Given the description of an element on the screen output the (x, y) to click on. 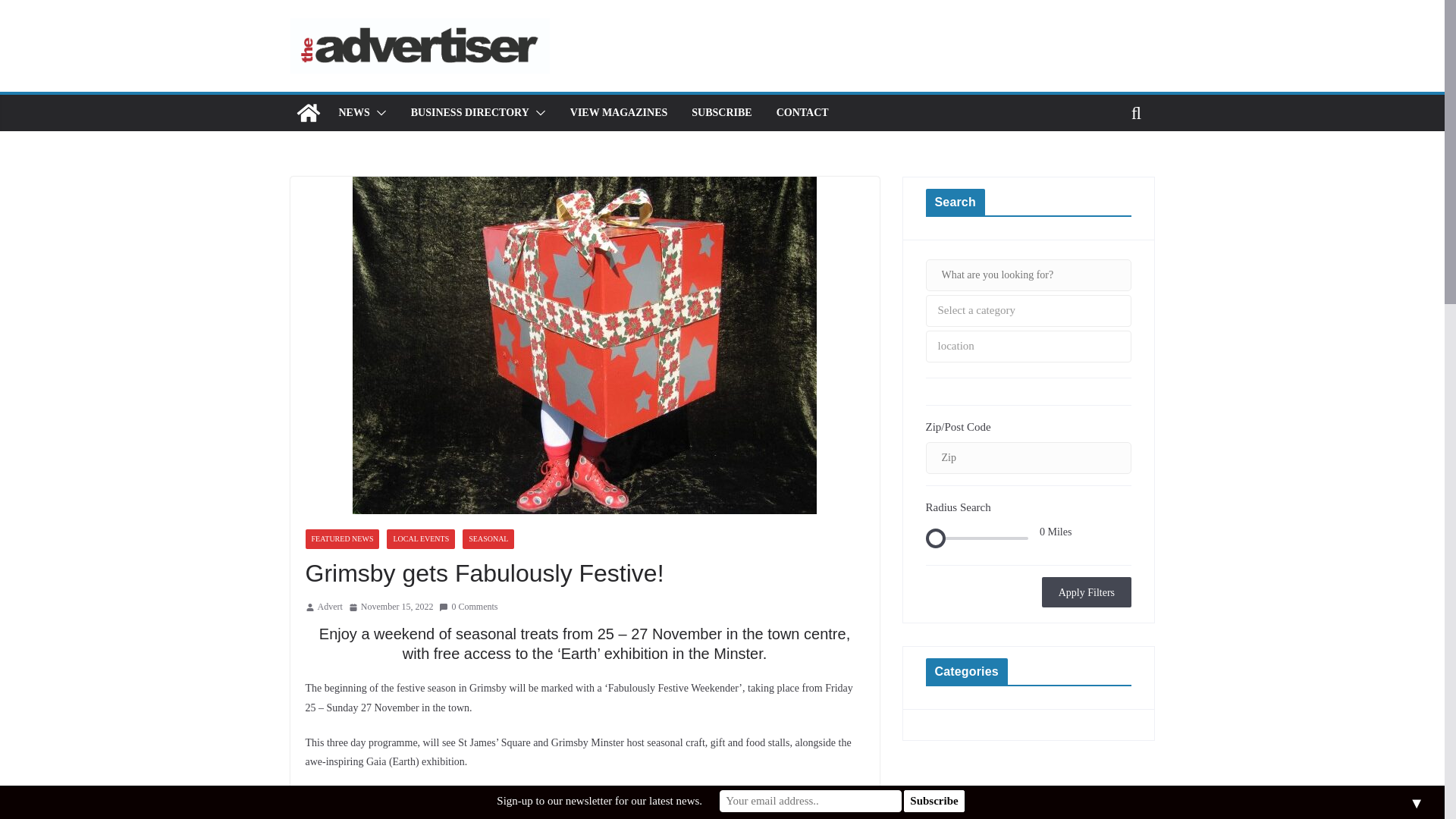
11:58 am (391, 606)
Advert (329, 606)
Advert (329, 606)
Apply Filters (1086, 592)
LOCAL EVENTS (420, 538)
November 15, 2022 (391, 606)
SUBSCRIBE (721, 112)
VIEW MAGAZINES (619, 112)
CONTACT (802, 112)
NEWS (353, 112)
